Given the description of an element on the screen output the (x, y) to click on. 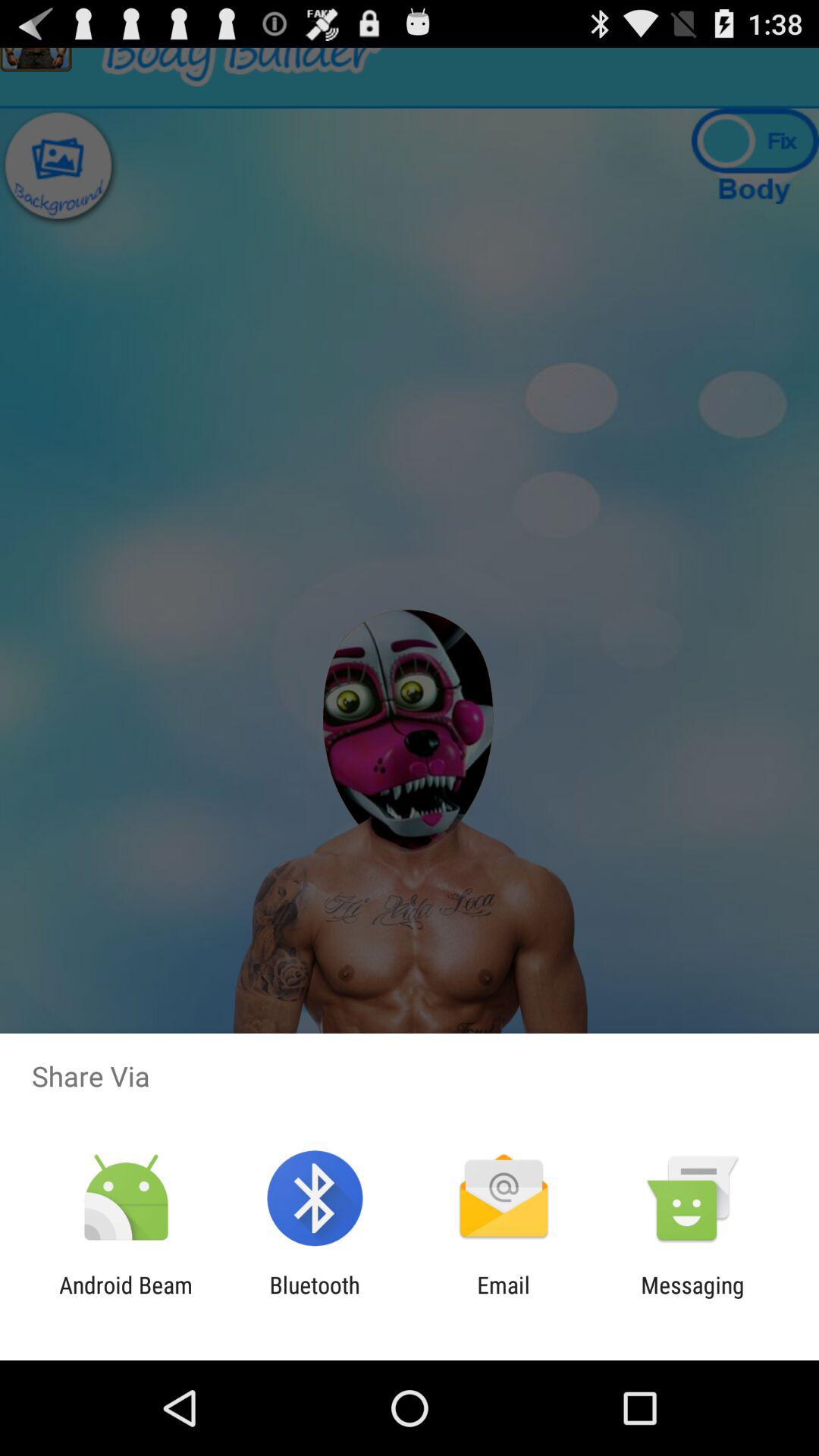
turn on the item next to email app (314, 1298)
